Given the description of an element on the screen output the (x, y) to click on. 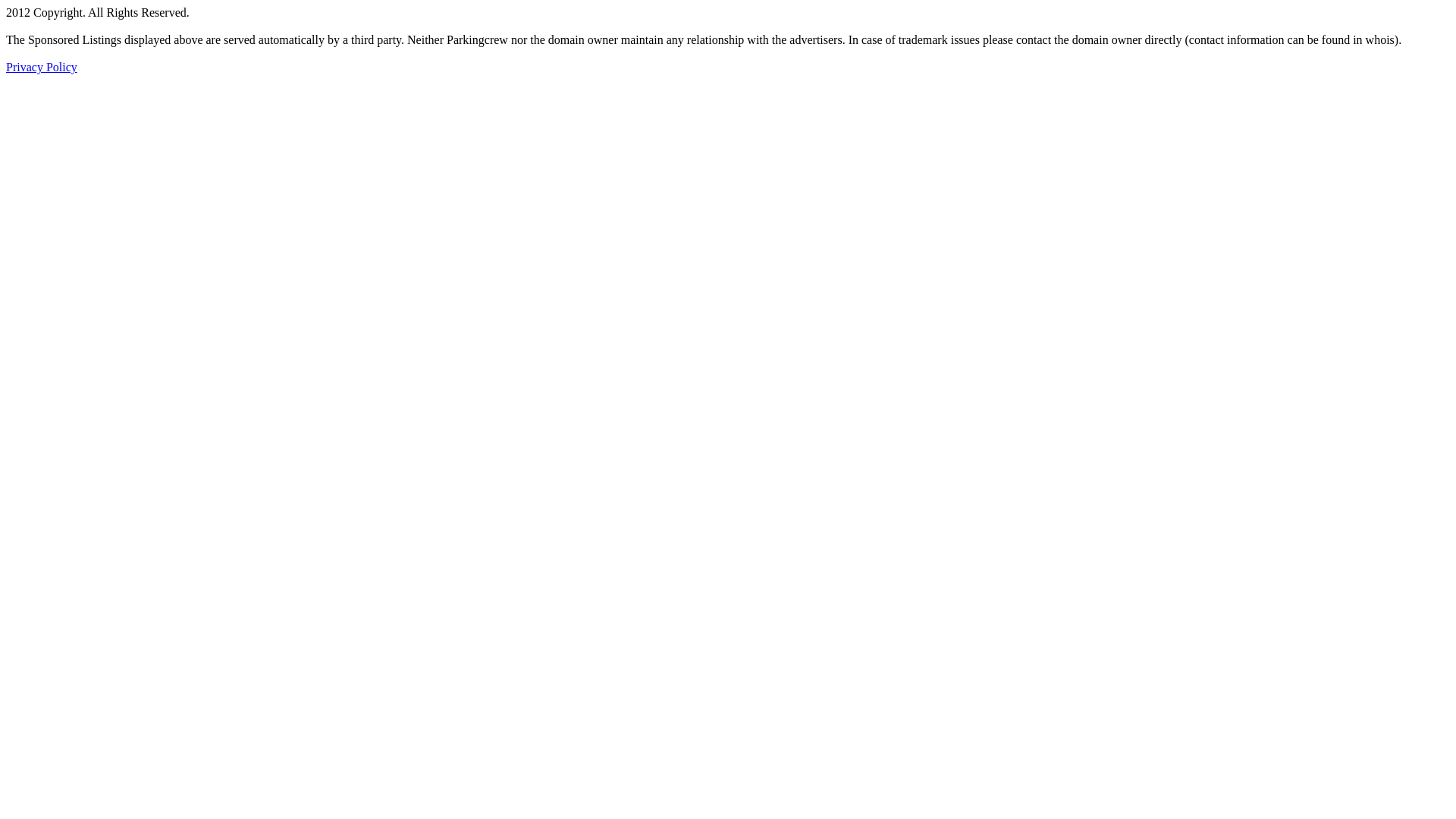
Privacy Policy Element type: text (41, 66)
